Given the description of an element on the screen output the (x, y) to click on. 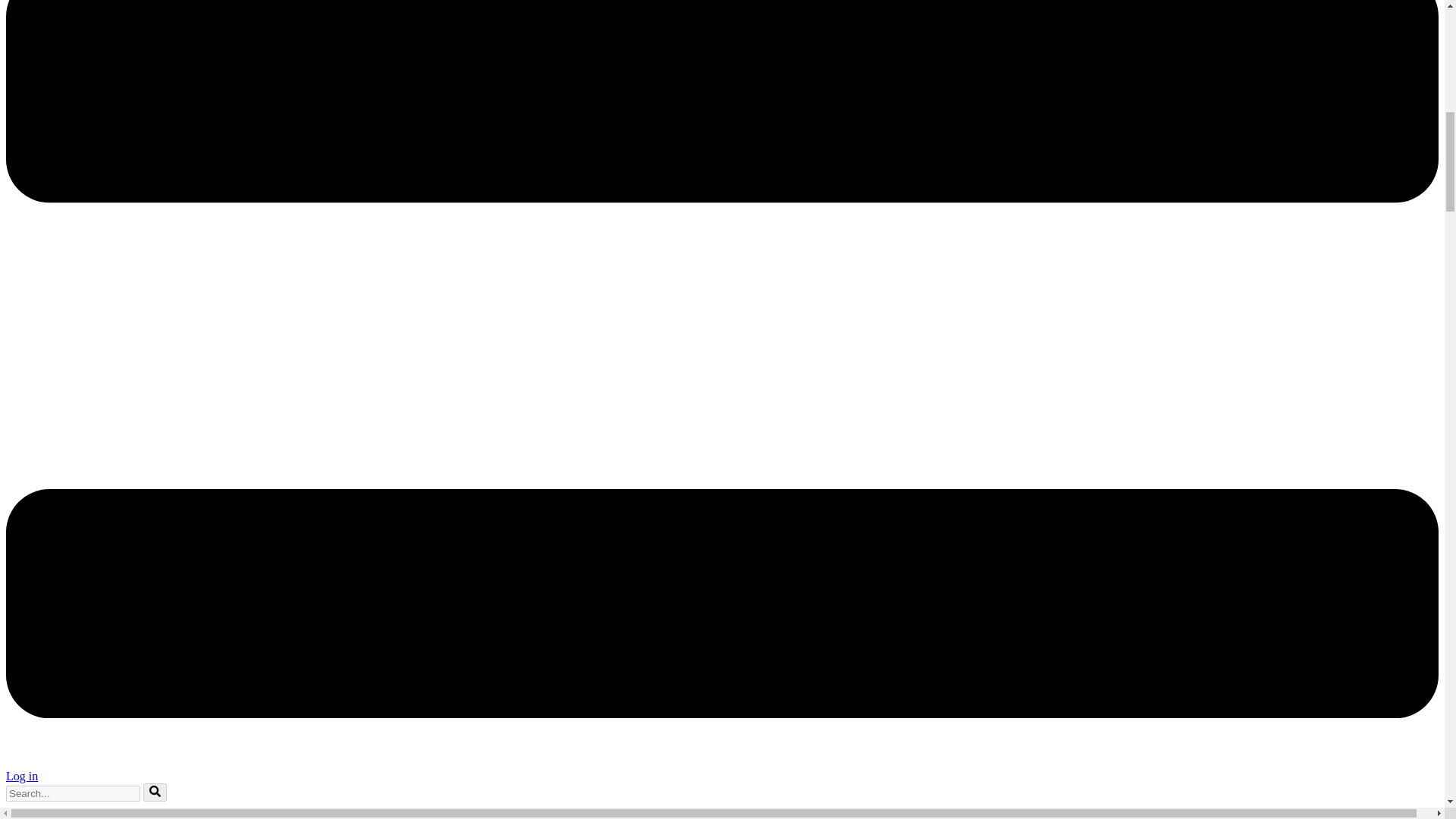
Log in (21, 775)
Latest (50, 816)
